Given the description of an element on the screen output the (x, y) to click on. 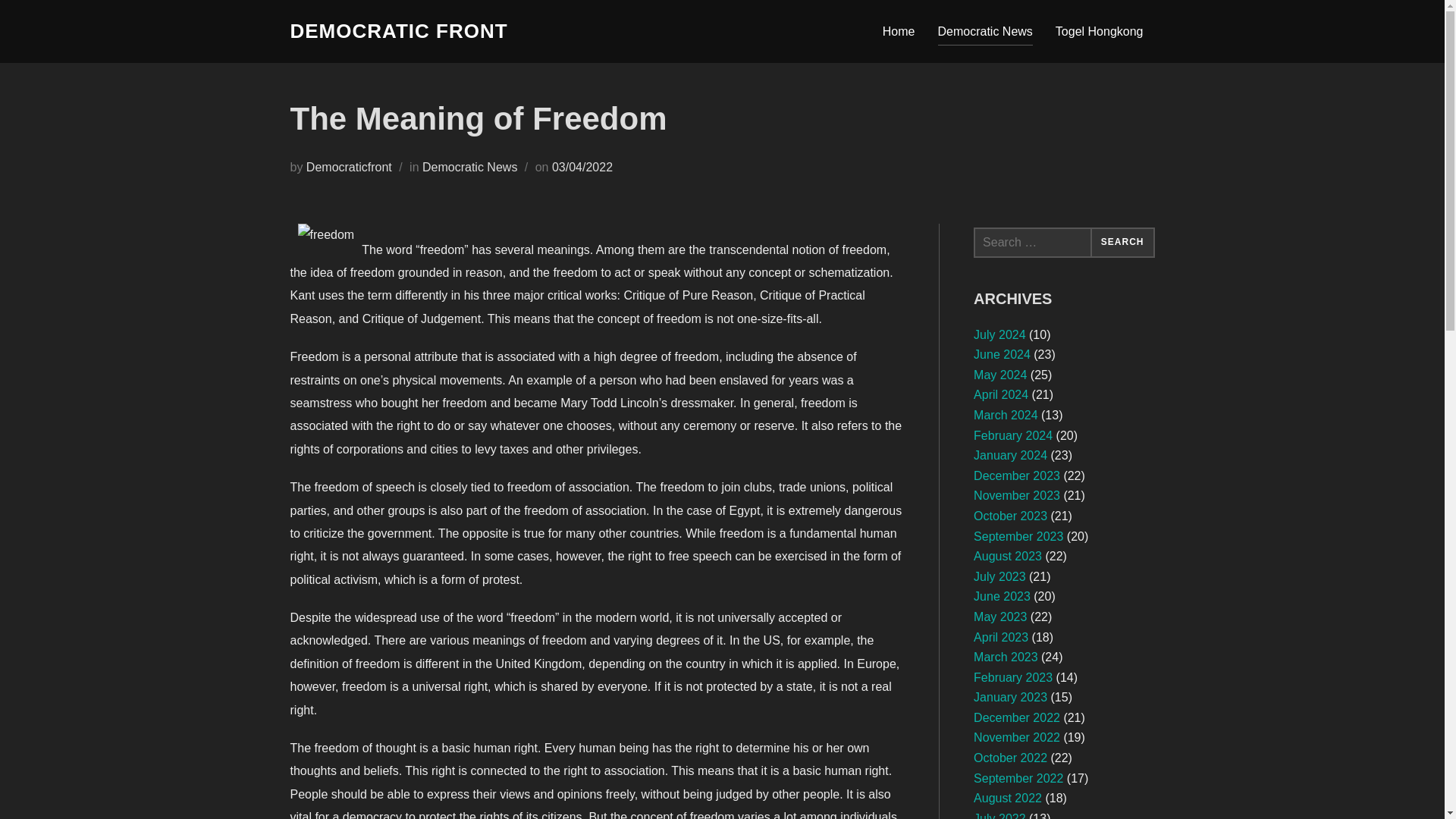
August 2022 (1008, 797)
January 2024 (1010, 454)
September 2022 (1018, 778)
February 2024 (1013, 435)
Democratic News (469, 166)
July 2024 (1000, 334)
Home (898, 30)
May 2024 (1000, 374)
October 2022 (1010, 757)
Democraticfront (348, 166)
August 2023 (1008, 555)
June 2024 (1002, 354)
DEMOCRATIC FRONT (397, 31)
July 2023 (1000, 576)
Democratic News (984, 30)
